Given the description of an element on the screen output the (x, y) to click on. 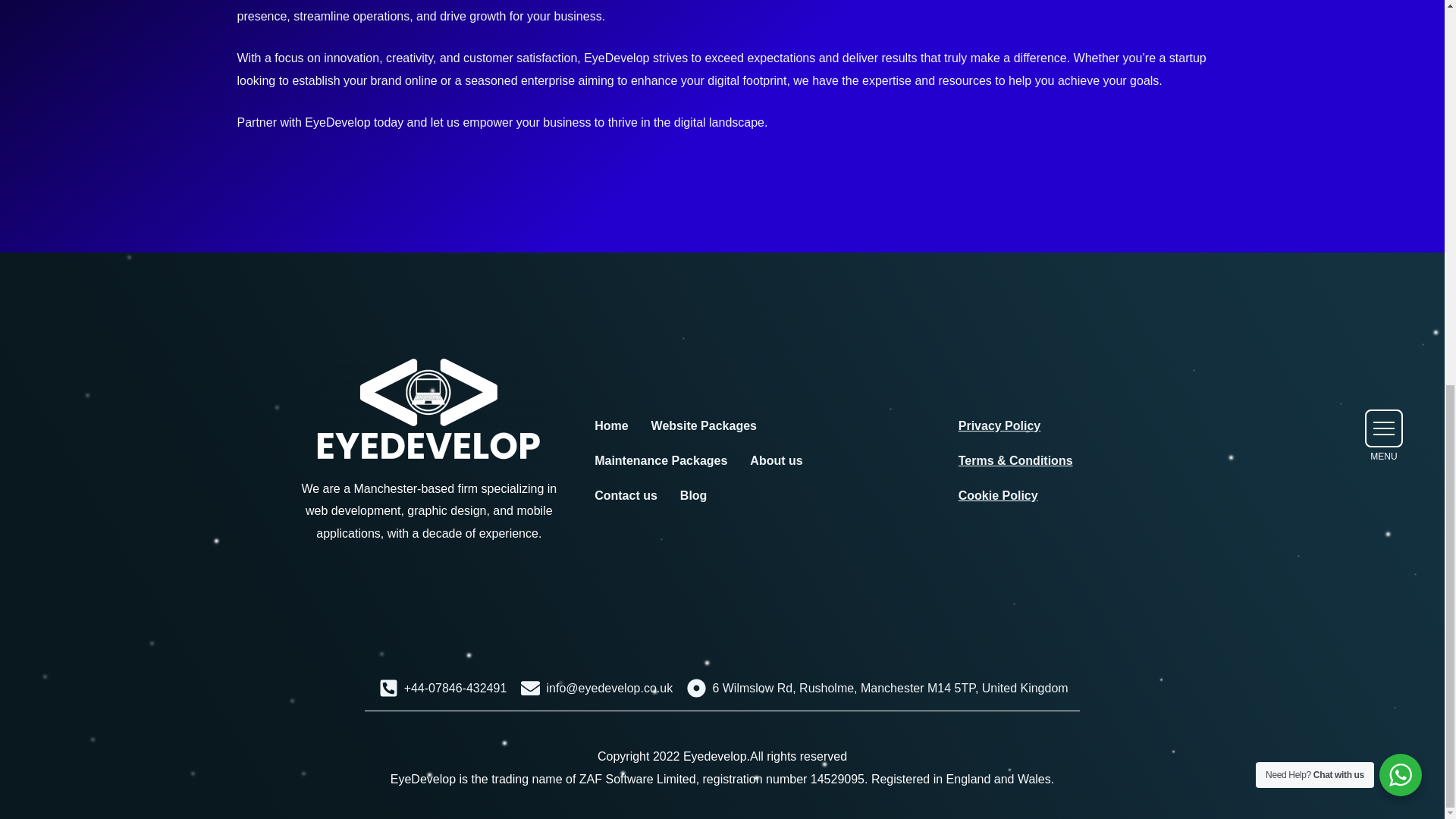
Cookie Policy (1015, 495)
Need Help? Chat with us (1400, 50)
About us (775, 460)
Website Packages (704, 425)
Home (611, 425)
Blog (693, 495)
Privacy Policy (1015, 425)
Maintenance Packages (660, 460)
Contact us (625, 495)
